Given the description of an element on the screen output the (x, y) to click on. 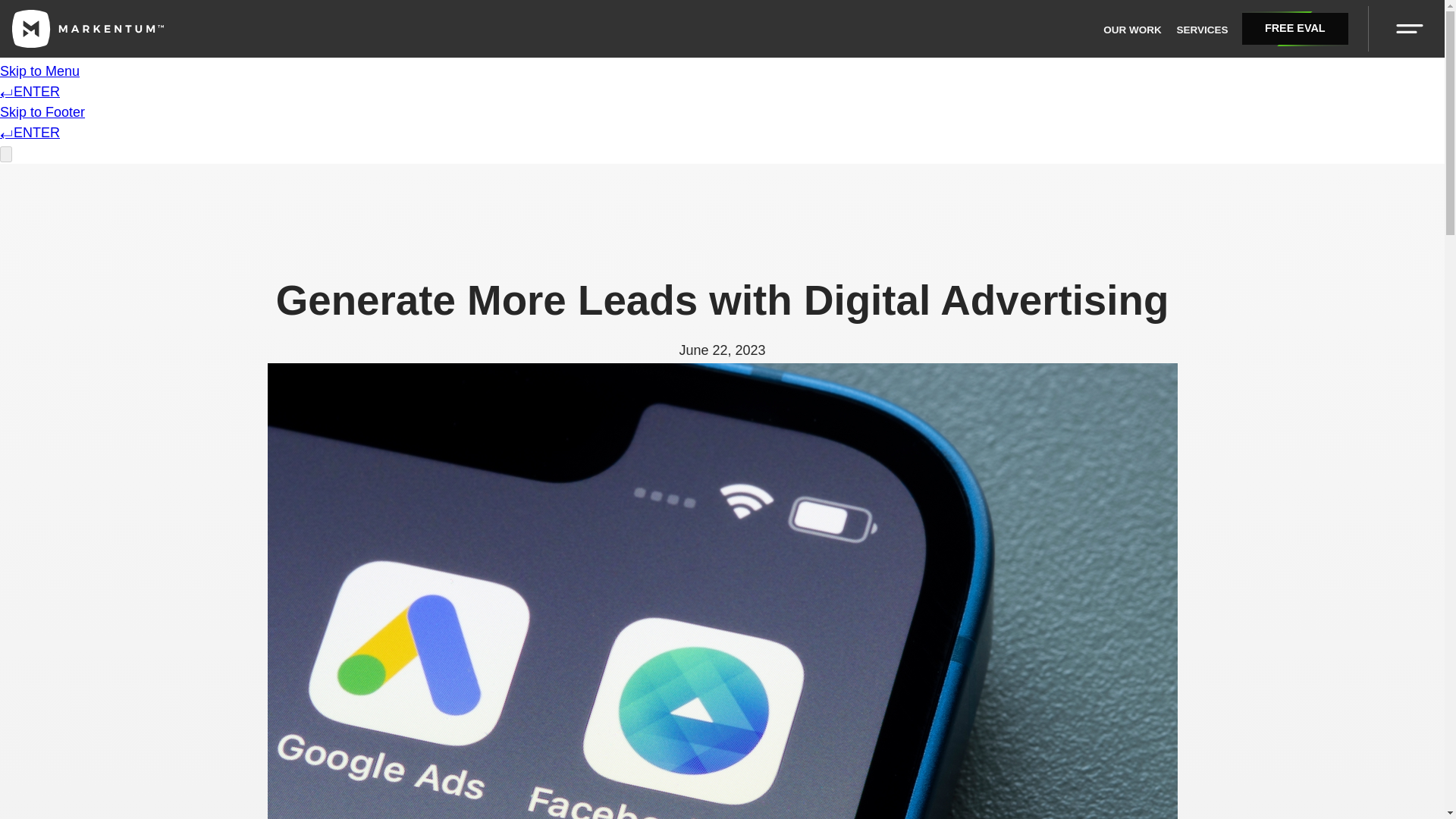
OUR WORK (1133, 30)
FREE EVAL (1294, 28)
SERVICES (1201, 30)
